Given the description of an element on the screen output the (x, y) to click on. 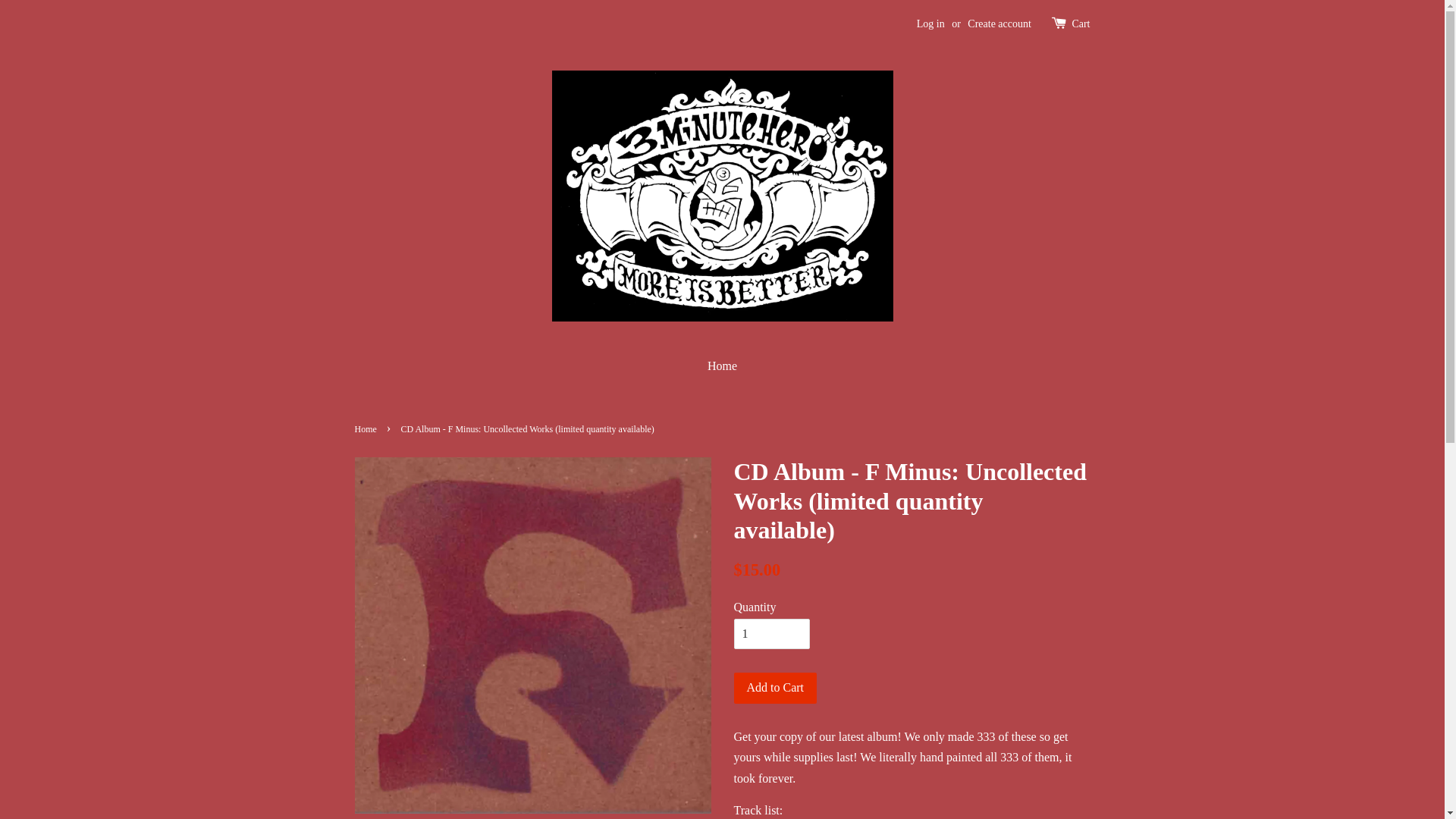
Cart Element type: text (1080, 24)
Home Element type: text (722, 365)
Create account Element type: text (999, 23)
Log in Element type: text (930, 23)
Add to Cart Element type: text (775, 687)
Home Element type: text (367, 428)
